Given the description of an element on the screen output the (x, y) to click on. 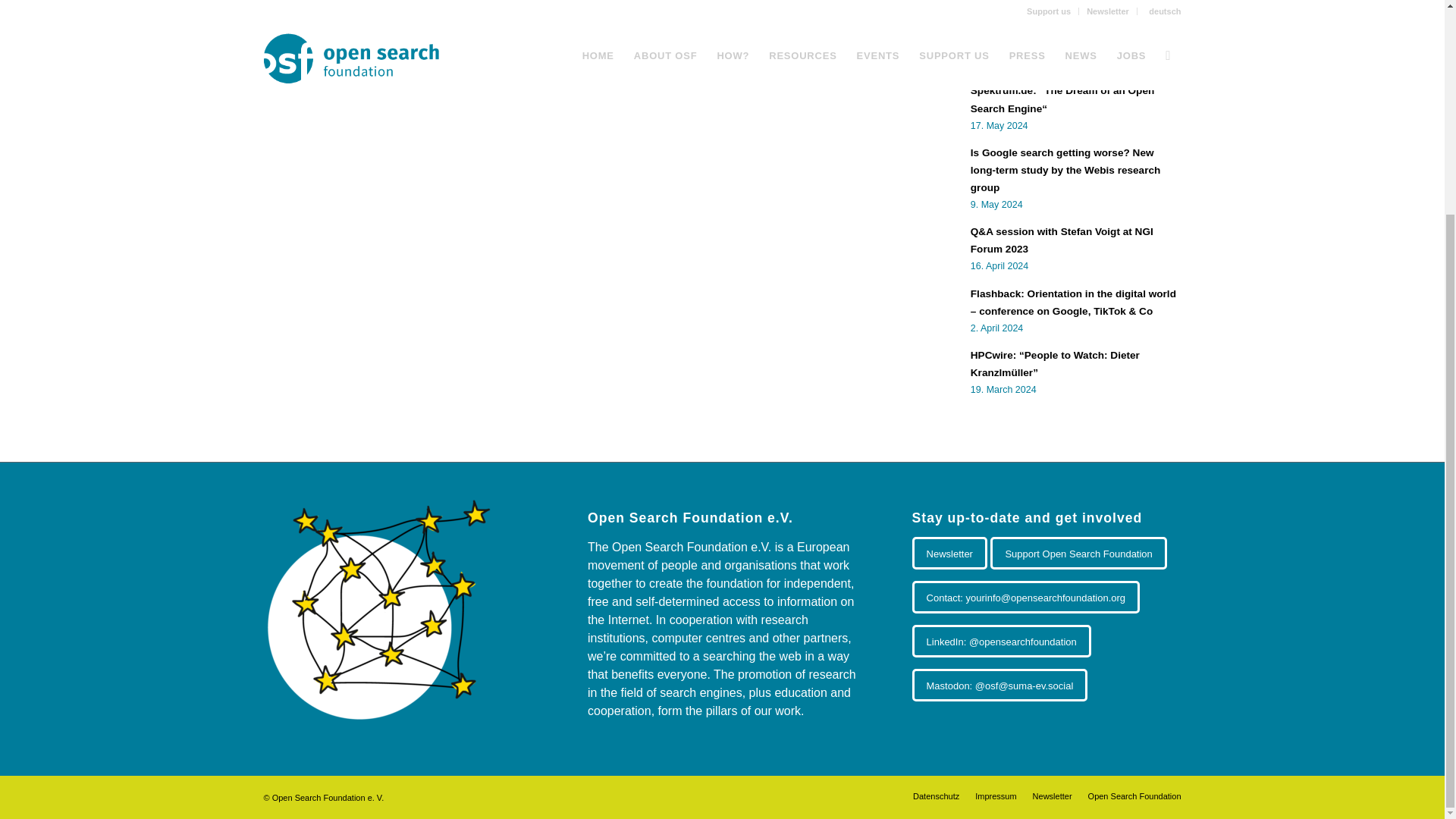
OPEN SEARCH FOUNDATION (467, 19)
Posts by Open Search Foundation (467, 19)
